Given the description of an element on the screen output the (x, y) to click on. 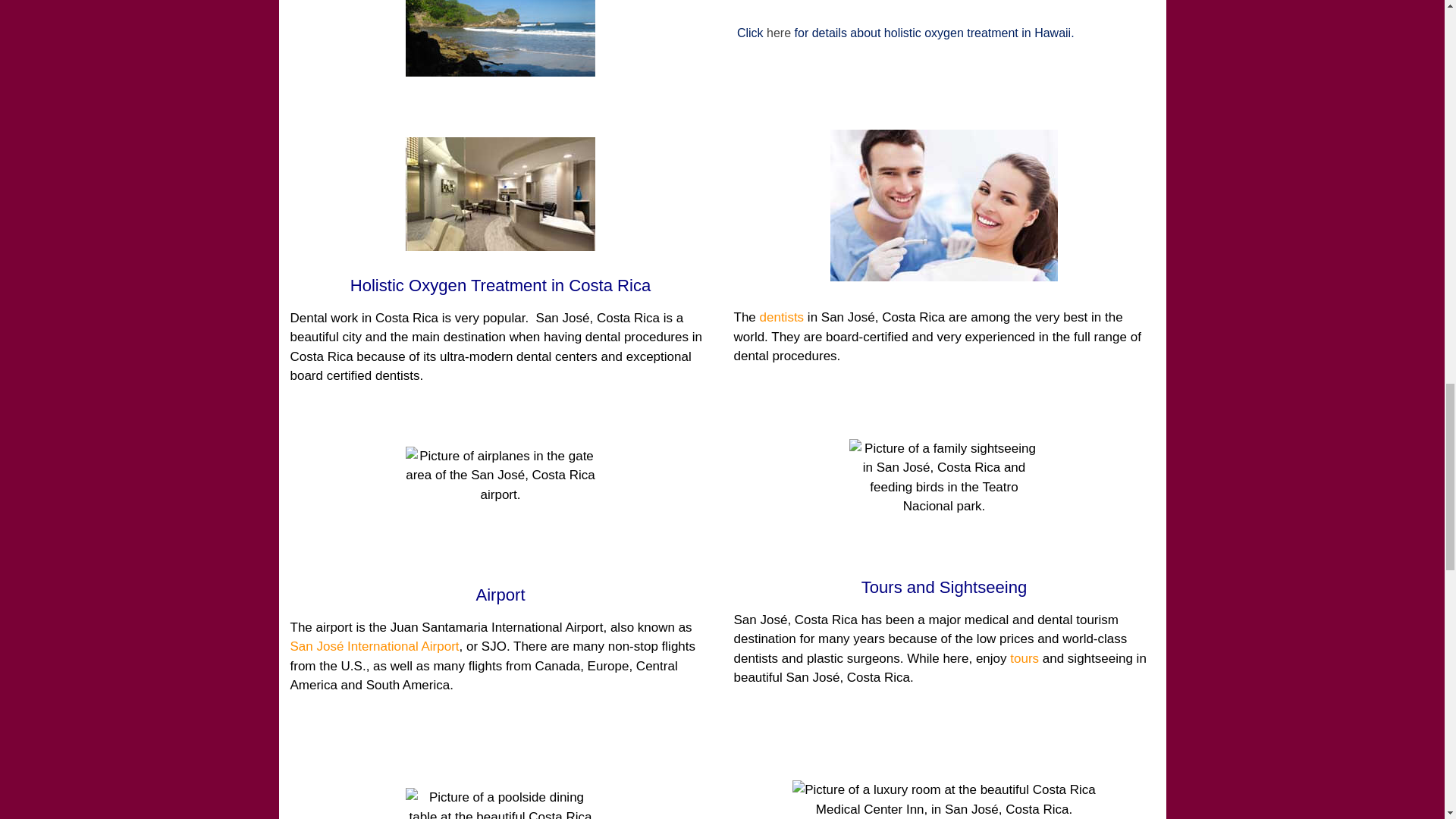
here (778, 32)
dentist-and-patient (943, 205)
dentists (782, 317)
restaurant-and-pool (500, 803)
packages-picture (500, 38)
city-tour (943, 495)
tours (1024, 658)
san-jose-airport (500, 503)
dental-office (500, 193)
junior-suite-bedroom (944, 799)
